Given the description of an element on the screen output the (x, y) to click on. 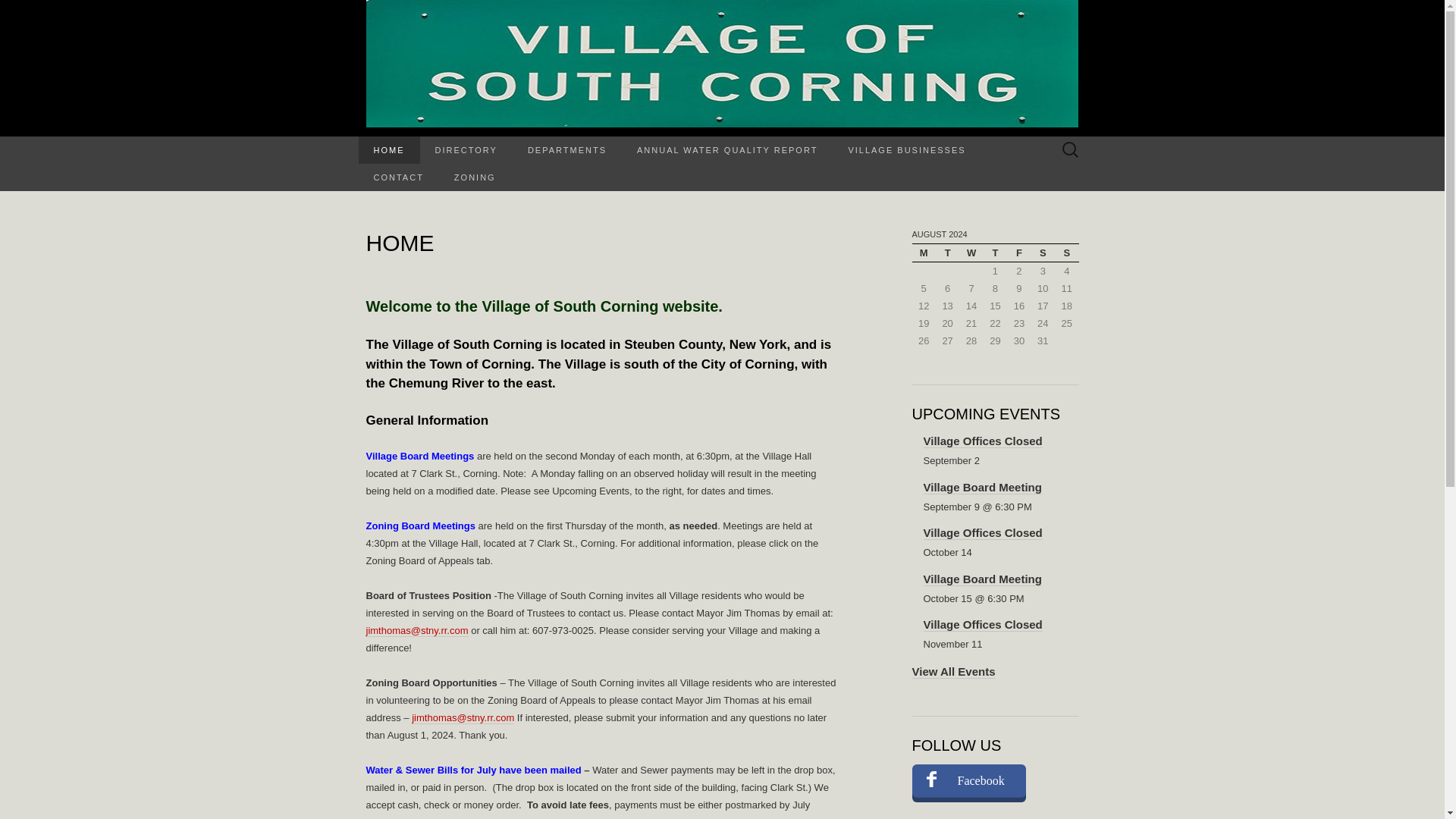
Search (39, 12)
Monday (922, 252)
ANNUAL WATER QUALITY REPORT (726, 149)
Search (16, 12)
ZONING (475, 176)
Village Offices Closed (982, 624)
DIRECTORY (466, 149)
VILLAGE BUSINESSES (905, 149)
Tuesday (947, 252)
Saturday (1042, 252)
